Given the description of an element on the screen output the (x, y) to click on. 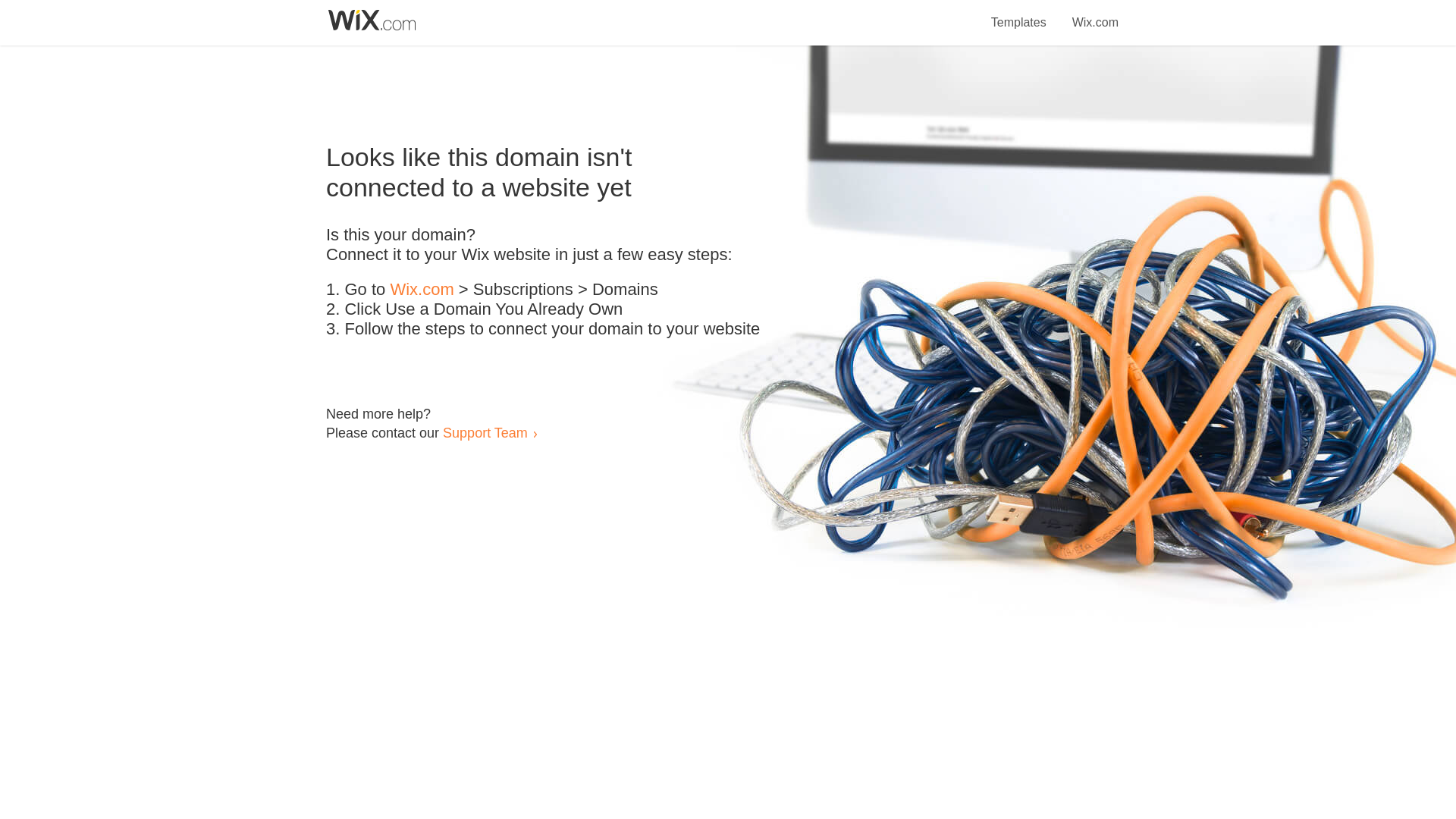
Wix.com (421, 289)
Wix.com (1095, 14)
Support Team (484, 432)
Templates (1018, 14)
